Given the description of an element on the screen output the (x, y) to click on. 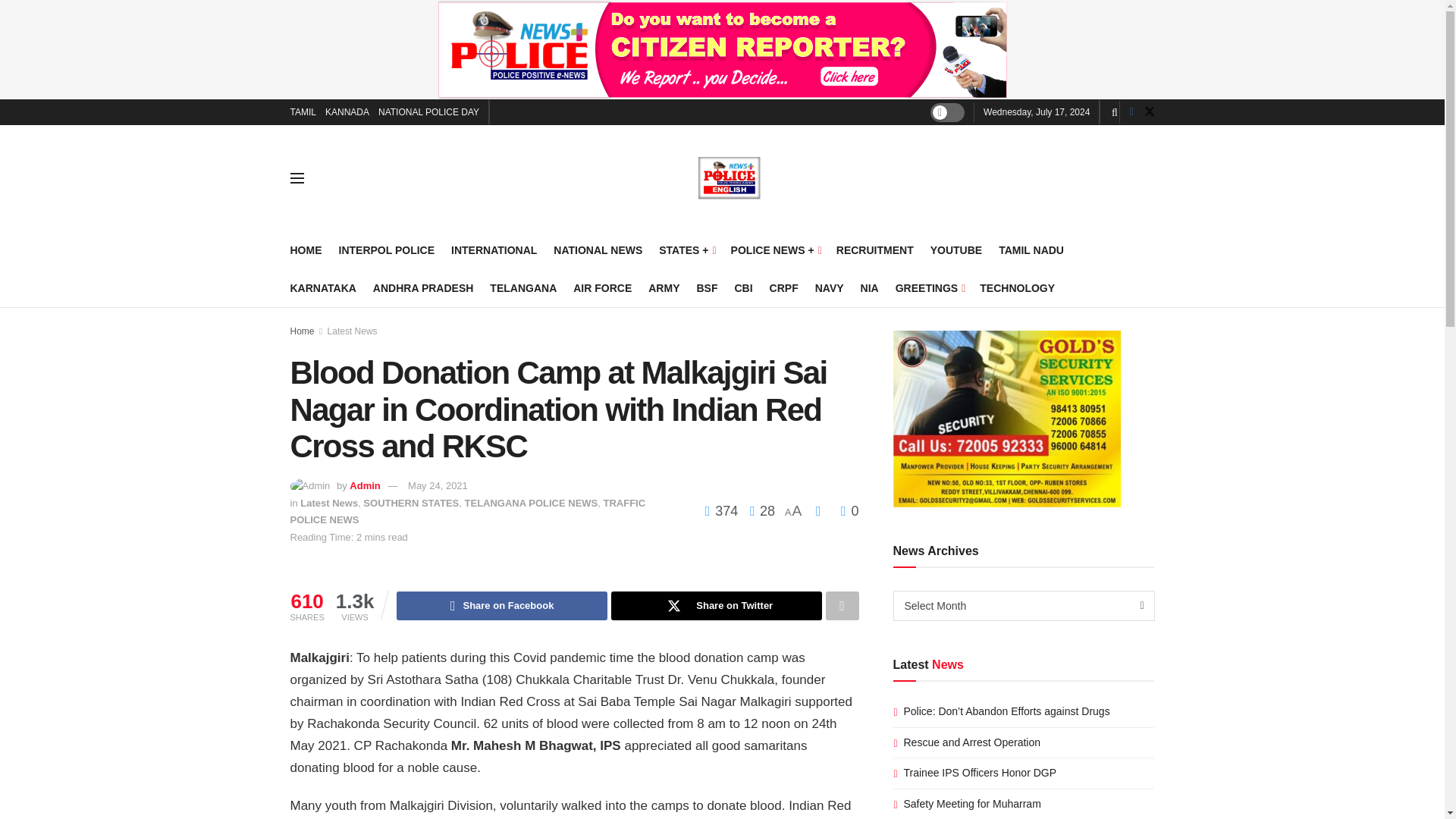
RECRUITMENT (874, 250)
INTERPOL POLICE (385, 250)
TAMIL (302, 112)
YOUTUBE (955, 250)
NATIONAL NEWS (597, 250)
ANDHRA PRADESH (423, 287)
KARNATAKA (322, 287)
INTERNATIONAL (494, 250)
TELANGANA (522, 287)
KANNADA (346, 112)
HOME (305, 250)
NATIONAL POLICE DAY (428, 112)
TAMIL NADU (1031, 250)
AIR FORCE (602, 287)
